Given the description of an element on the screen output the (x, y) to click on. 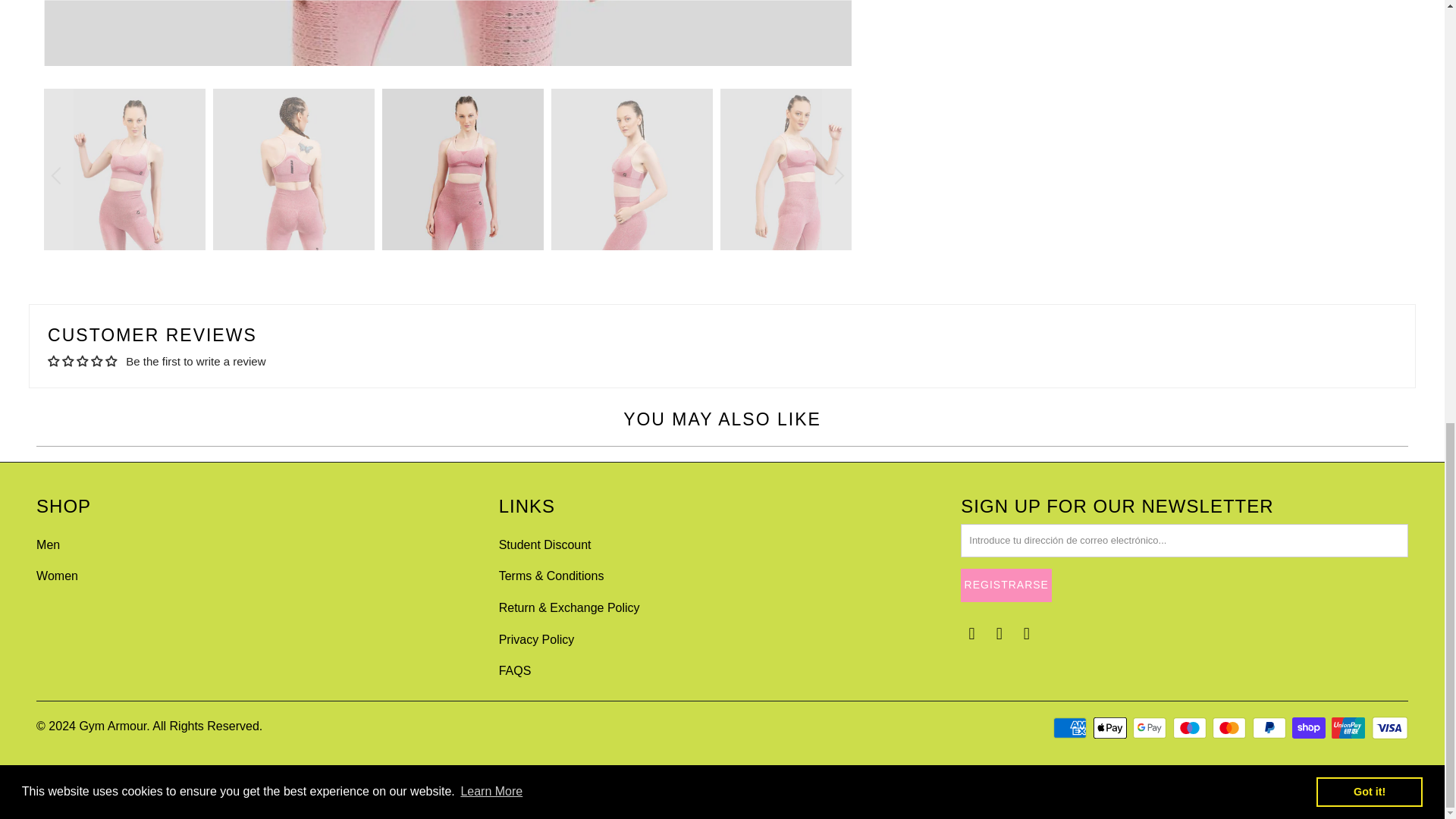
PayPal (1270, 727)
Visa (1389, 727)
Apple Pay (1111, 727)
Gym Armour  on Instagram (999, 633)
American Express (1070, 727)
Google Pay (1150, 727)
Gym Armour  on Facebook (972, 633)
Email Gym Armour  (1027, 633)
Mastercard (1230, 727)
Union Pay (1350, 727)
Shop Pay (1309, 727)
Maestro (1191, 727)
Registrarse (1005, 584)
